Given the description of an element on the screen output the (x, y) to click on. 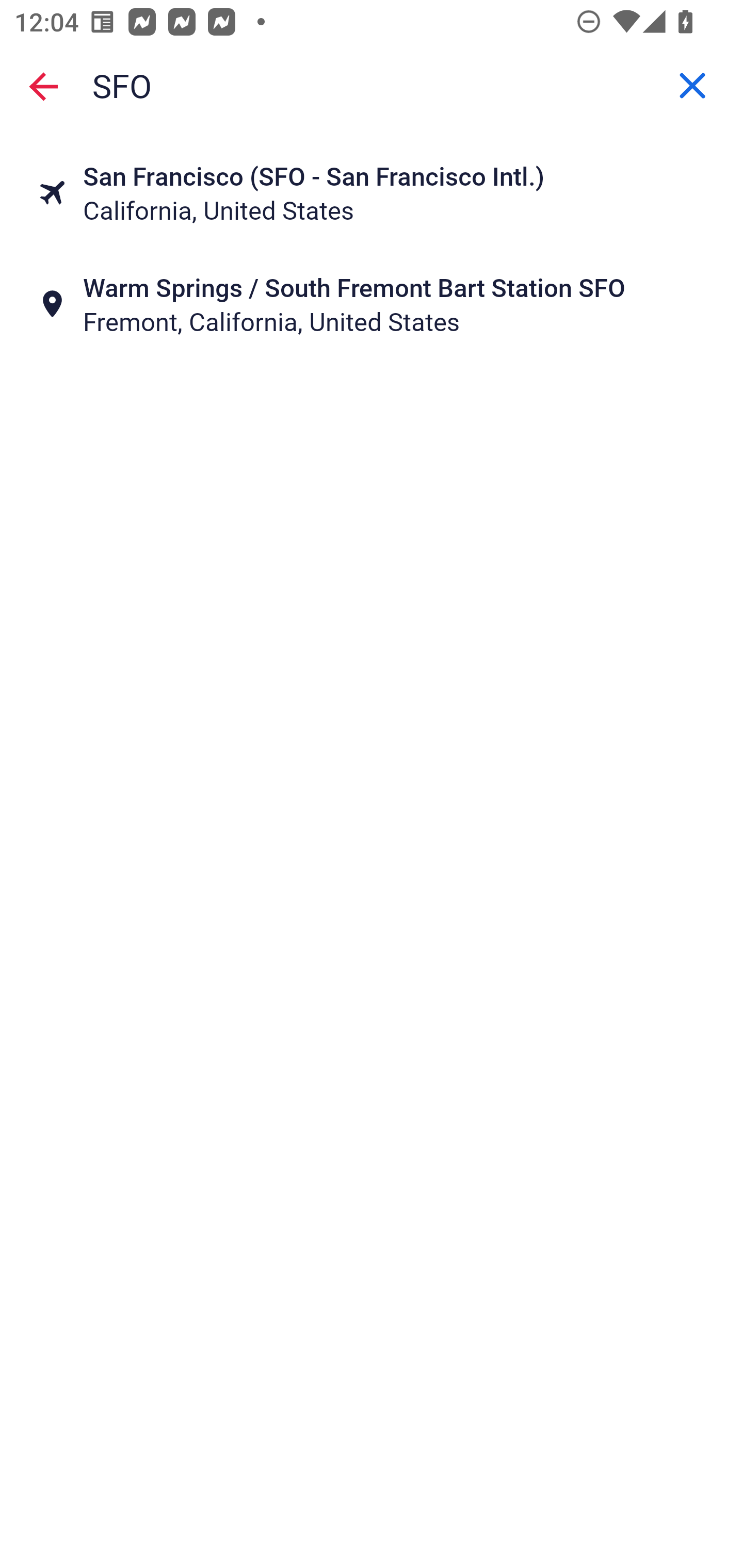
Clear Pick-up (692, 85)
Pick-up, SFO (371, 85)
Close search screen (43, 86)
